Given the description of an element on the screen output the (x, y) to click on. 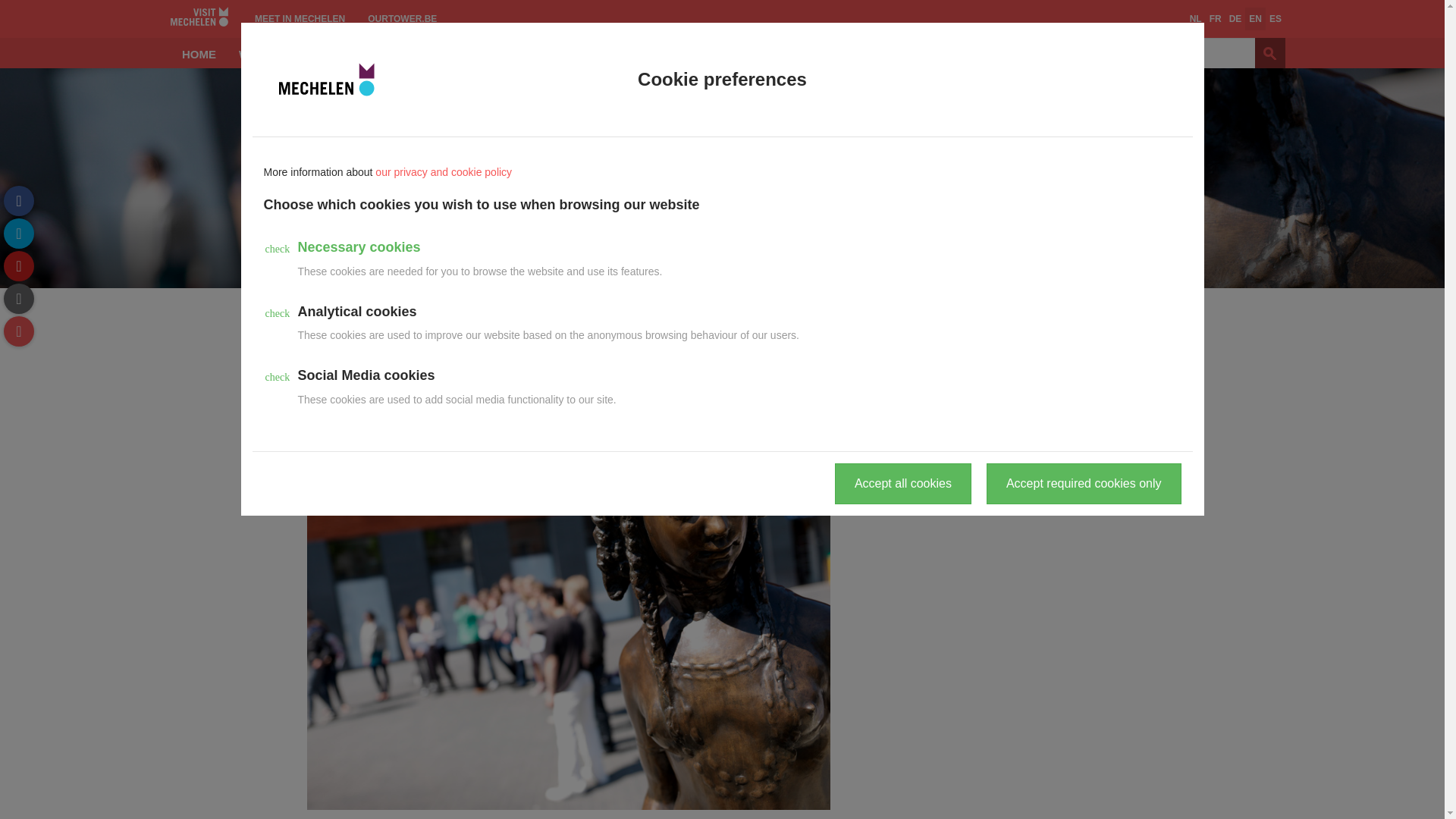
WHERETO? (271, 52)
MEET IN MECHELEN (299, 18)
Ga naar de startpagina (29, 82)
HOME (198, 52)
DE (1235, 18)
EN (1254, 18)
OURTOWER.BE (402, 18)
